Given the description of an element on the screen output the (x, y) to click on. 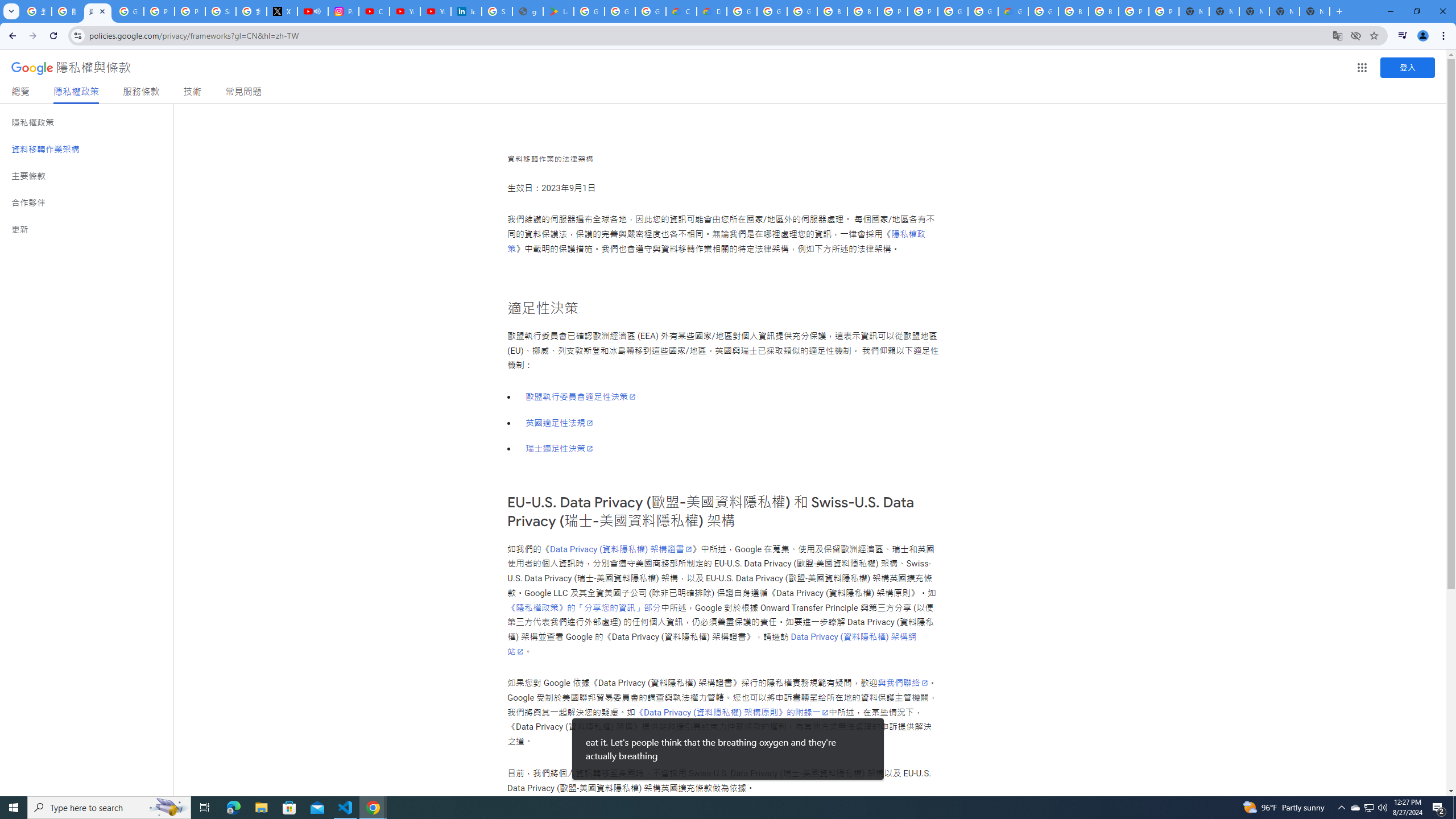
Privacy Help Center - Policies Help (189, 11)
Mute tab (317, 10)
Translate this page (1336, 35)
Google Cloud Estimate Summary (1012, 11)
Google Workspace - Specific Terms (619, 11)
